Given the description of an element on the screen output the (x, y) to click on. 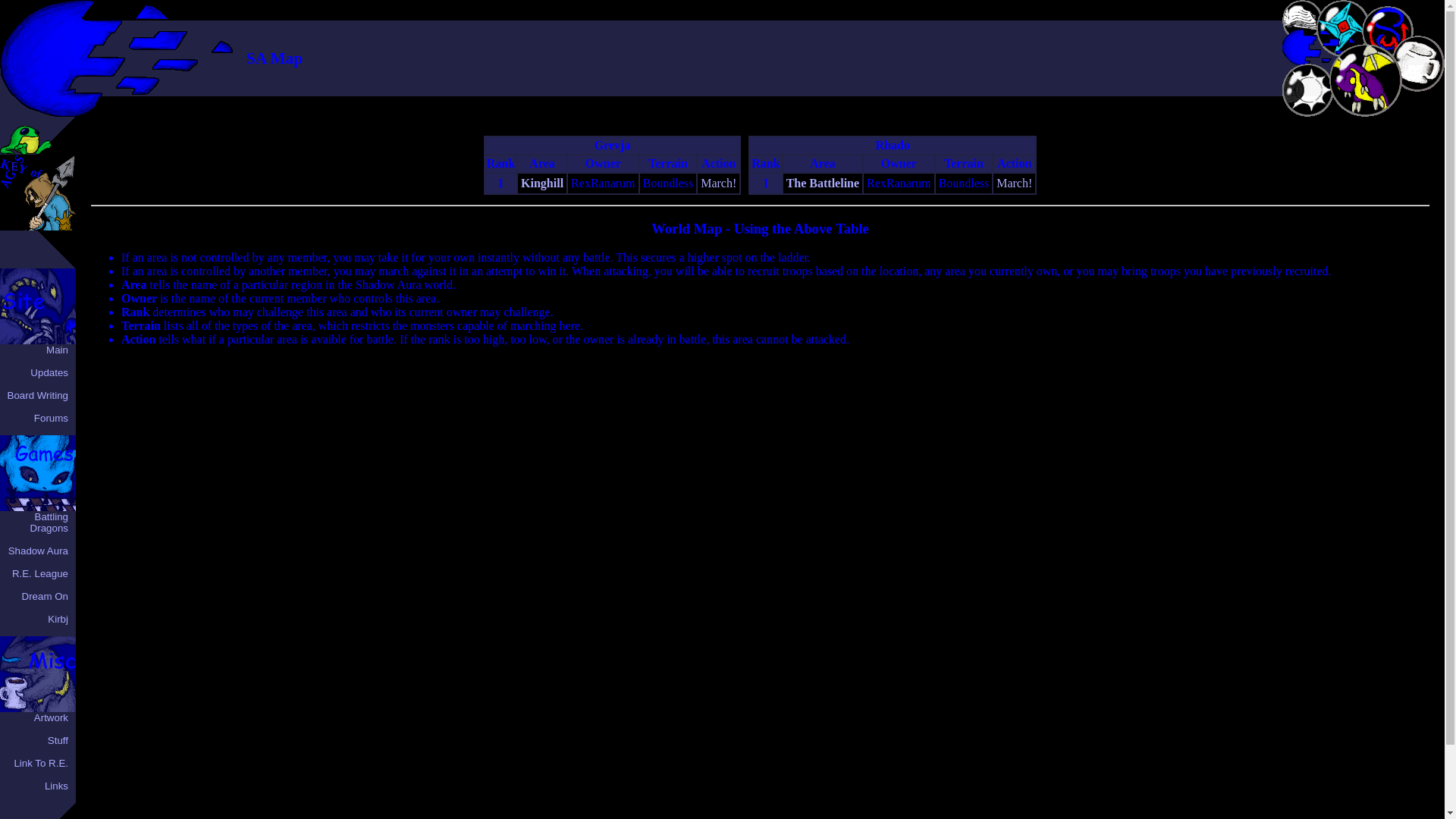
R.E. League (1339, 25)
Main Page (1310, 55)
Battling Dragons (1366, 55)
R.E. League (1342, 10)
R.E. League (39, 573)
Board Writing (1300, 10)
Shadow Aura (38, 550)
Battling Dragons (1364, 80)
Kinghill (542, 182)
Forums (50, 418)
